Given the description of an element on the screen output the (x, y) to click on. 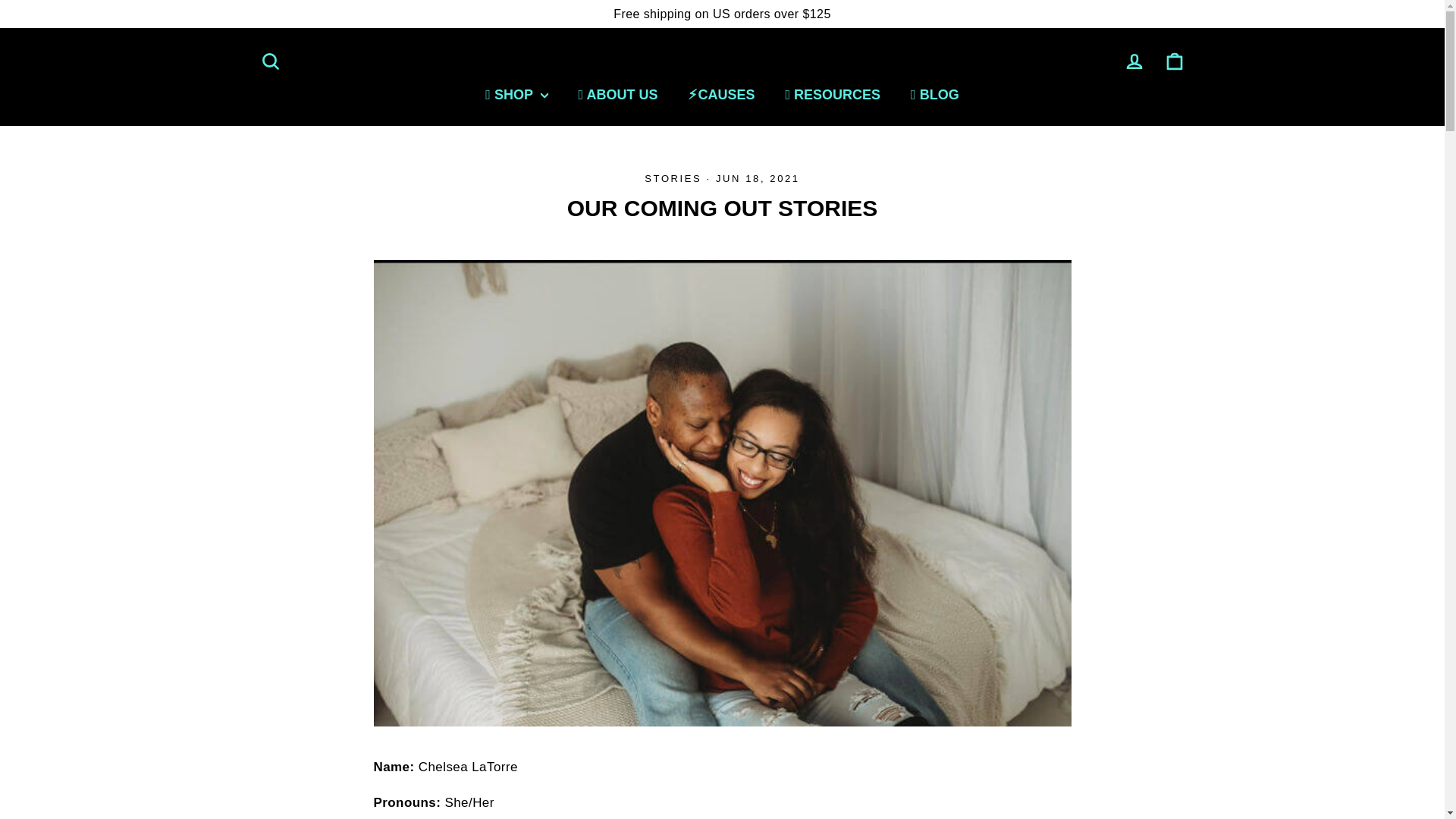
ICON-BAG-MINIMAL (1174, 61)
ACCOUNT (1134, 61)
ICON-SEARCH (1134, 61)
